Given the description of an element on the screen output the (x, y) to click on. 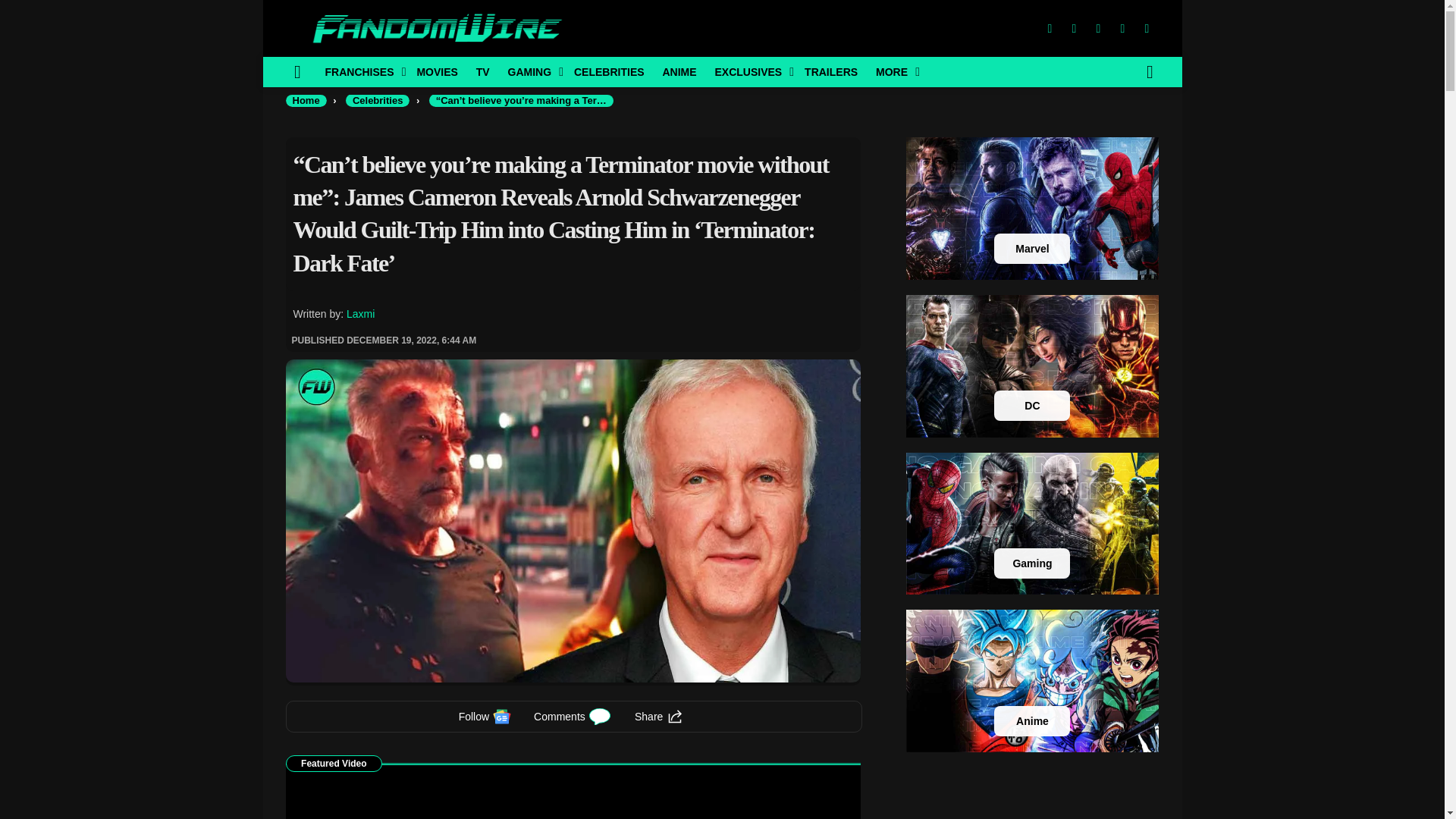
TV (482, 71)
TRAILERS (830, 71)
GAMING (532, 71)
Twitter (1073, 28)
CELEBRITIES (609, 71)
Insta (1097, 28)
Menu (296, 71)
LinkedIn (1121, 28)
Facebook (1048, 28)
MOVIES (436, 71)
FRANCHISES (361, 71)
MORE (893, 71)
ANIME (678, 71)
YT (1146, 28)
EXCLUSIVES (749, 71)
